Given the description of an element on the screen output the (x, y) to click on. 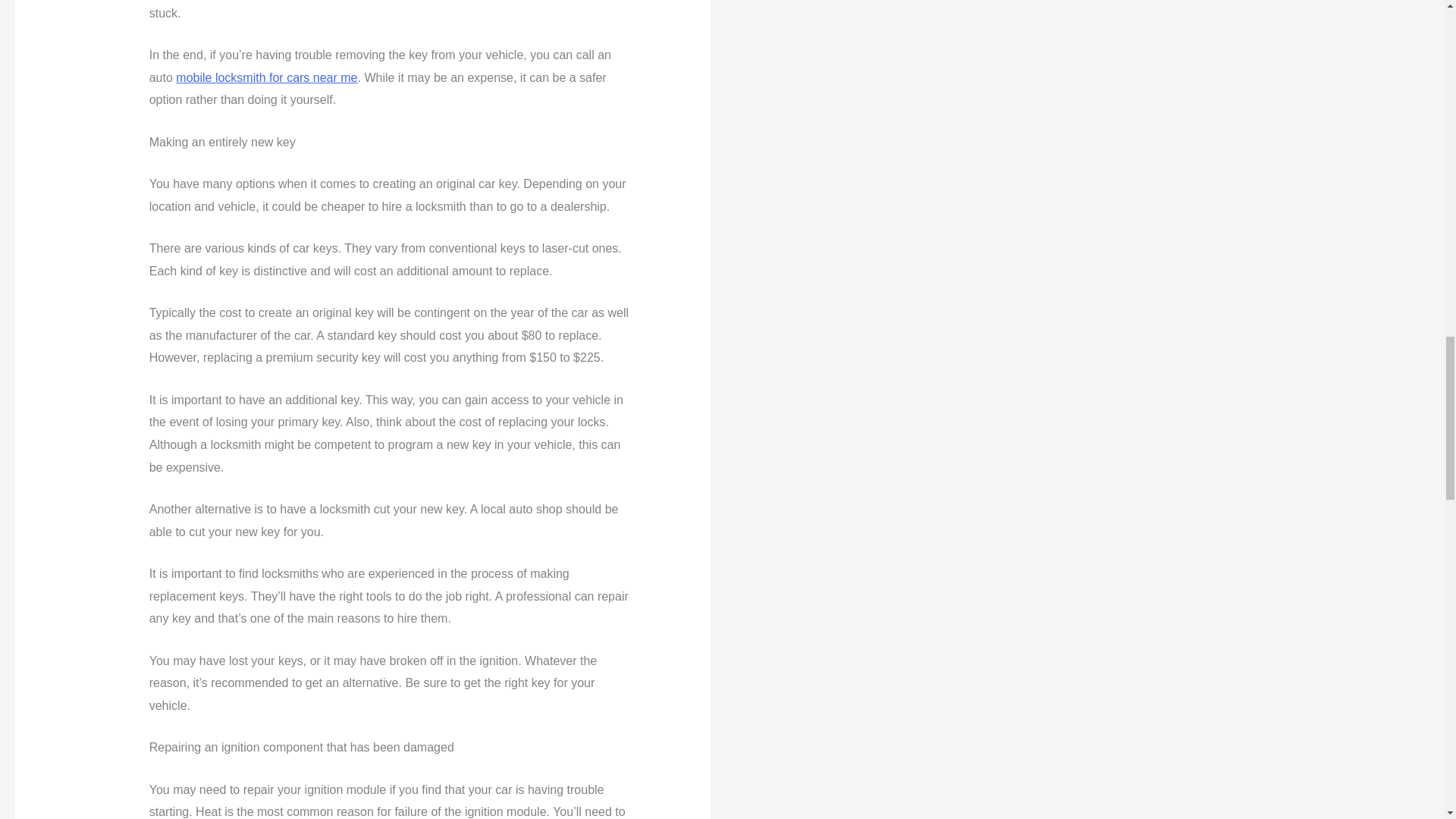
mobile locksmith for cars near me (266, 77)
